Given the description of an element on the screen output the (x, y) to click on. 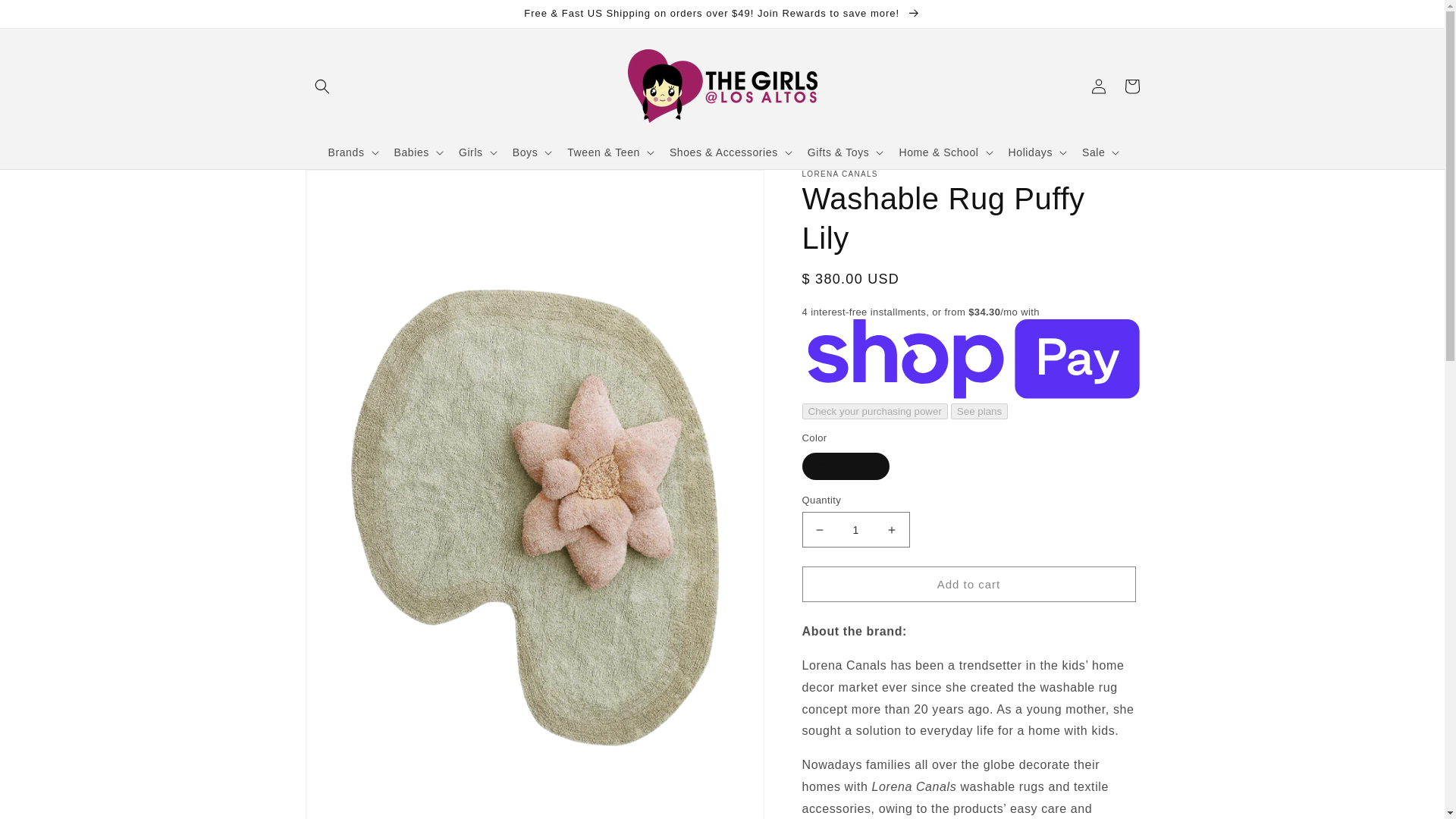
1 (856, 529)
Skip to content (45, 17)
